Given the description of an element on the screen output the (x, y) to click on. 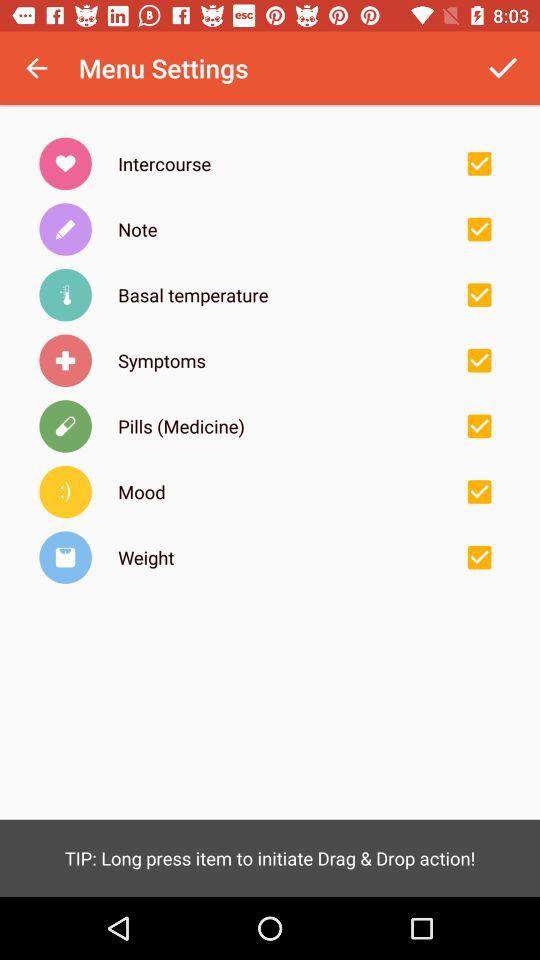
click pills (479, 426)
